Given the description of an element on the screen output the (x, y) to click on. 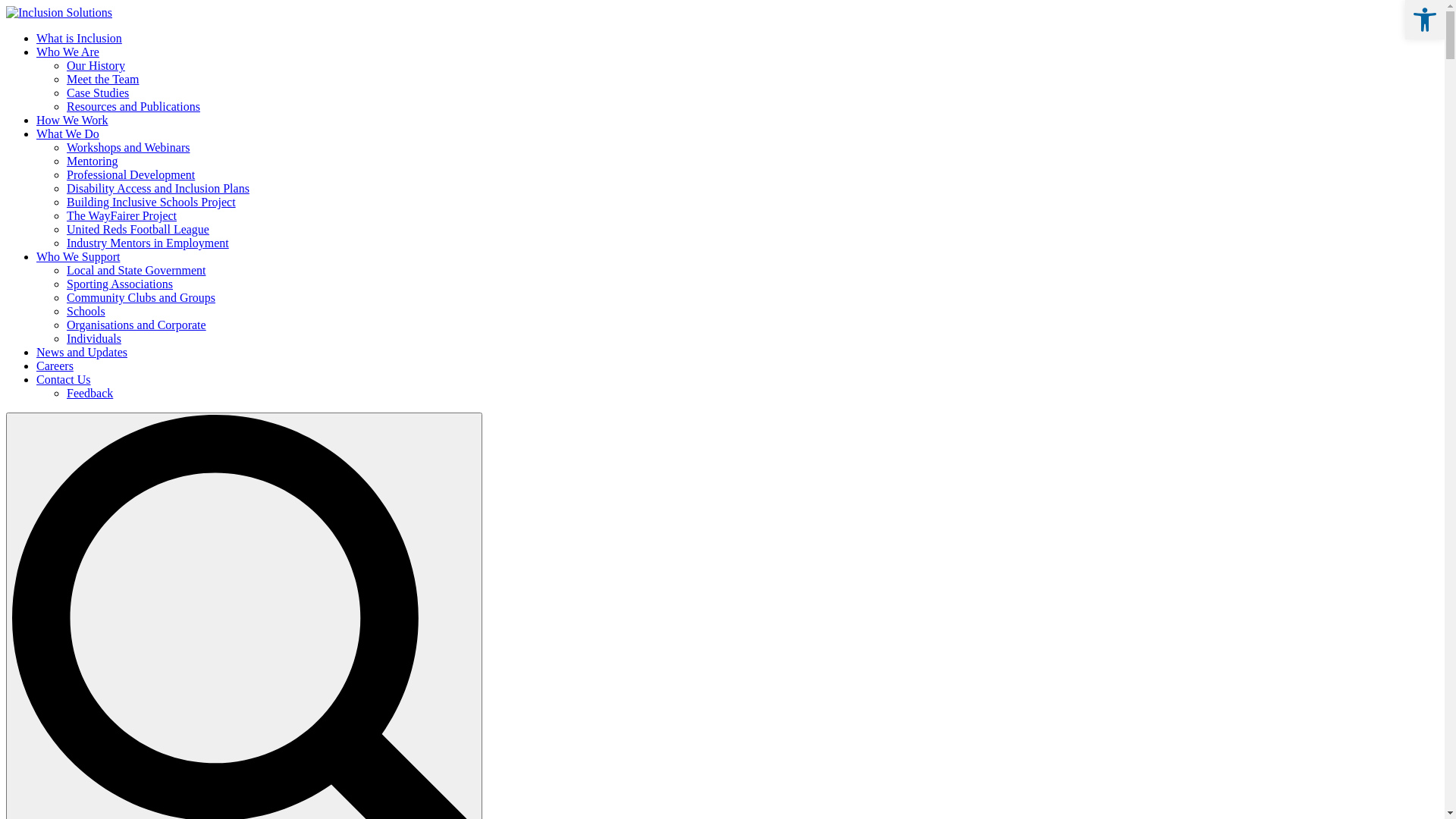
Building Inclusive Schools Project Element type: text (150, 201)
The WayFairer Project Element type: text (121, 215)
Case Studies Element type: text (97, 92)
Disability Access and Inclusion Plans Element type: text (157, 188)
Careers Element type: text (54, 365)
What We Do Element type: text (67, 133)
Inclusion Solutions Element type: hover (59, 12)
Community Clubs and Groups Element type: text (140, 297)
Schools Element type: text (85, 310)
Industry Mentors in Employment Element type: text (147, 242)
Who We Support Element type: text (77, 256)
United Reds Football League Element type: text (137, 228)
Feedback Element type: text (89, 392)
Open toolbar
Accessibility Tools Element type: text (1424, 19)
News and Updates Element type: text (81, 351)
Who We Are Element type: text (67, 51)
How We Work Element type: text (72, 119)
Local and State Government Element type: text (136, 269)
Sporting Associations Element type: text (119, 283)
Organisations and Corporate Element type: text (136, 324)
Contact Us Element type: text (63, 379)
What is Inclusion Element type: text (79, 37)
Our History Element type: text (95, 65)
Workshops and Webinars Element type: text (127, 147)
Resources and Publications Element type: text (133, 106)
Meet the Team Element type: text (102, 78)
Individuals Element type: text (93, 338)
Professional Development Element type: text (130, 174)
Mentoring Element type: text (92, 160)
